Given the description of an element on the screen output the (x, y) to click on. 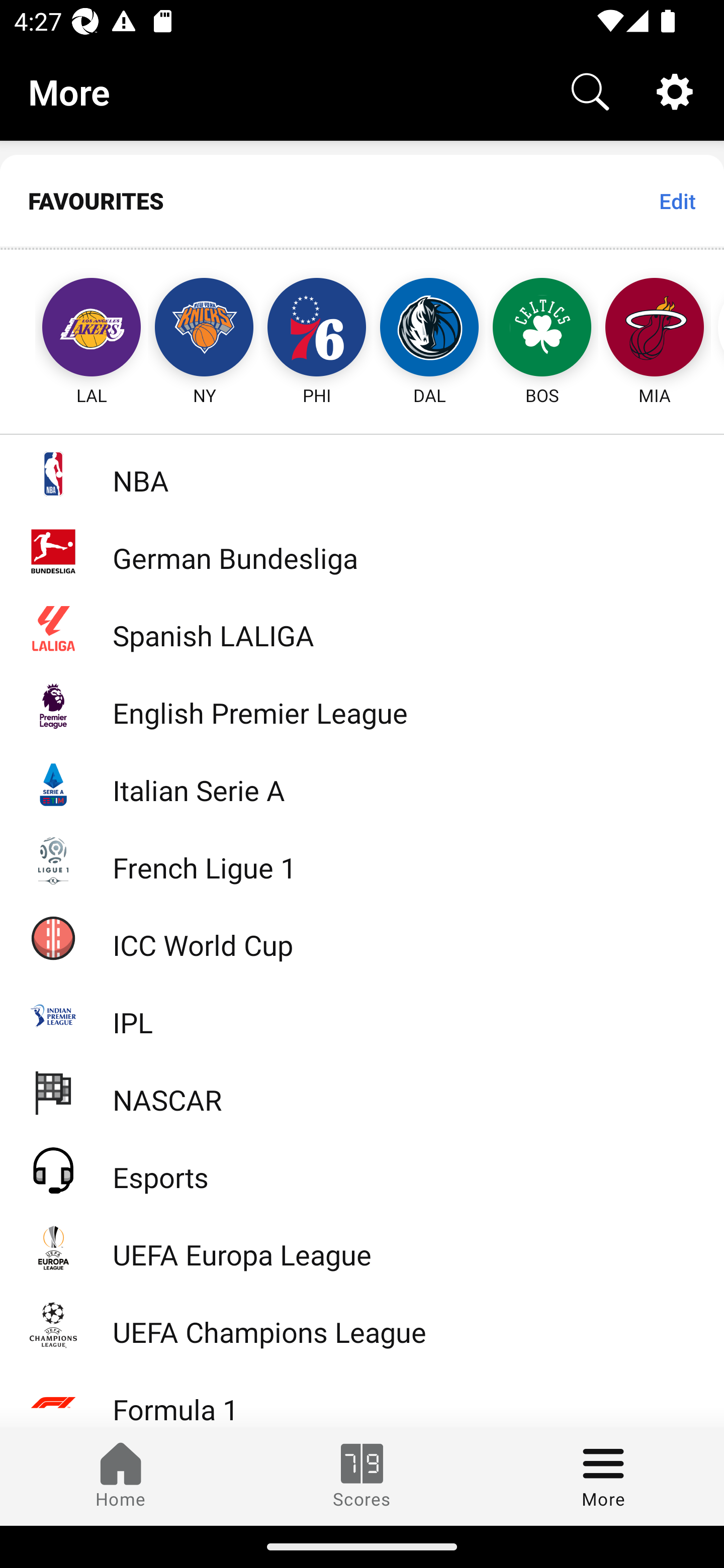
Search (590, 90)
Settings (674, 90)
Edit (676, 200)
LAL Los Angeles Lakers (73, 328)
NY New York Knicks (203, 328)
PHI Philadelphia 76ers (316, 328)
DAL Dallas Mavericks (428, 328)
BOS Boston Celtics (541, 328)
MIA Miami Heat (654, 328)
NBA (362, 473)
German Bundesliga (362, 550)
Spanish LALIGA (362, 627)
English Premier League (362, 705)
Italian Serie A (362, 782)
French Ligue 1 (362, 859)
ICC World Cup (362, 937)
IPL (362, 1014)
NASCAR (362, 1091)
Esports (362, 1169)
UEFA Europa League (362, 1246)
